Given the description of an element on the screen output the (x, y) to click on. 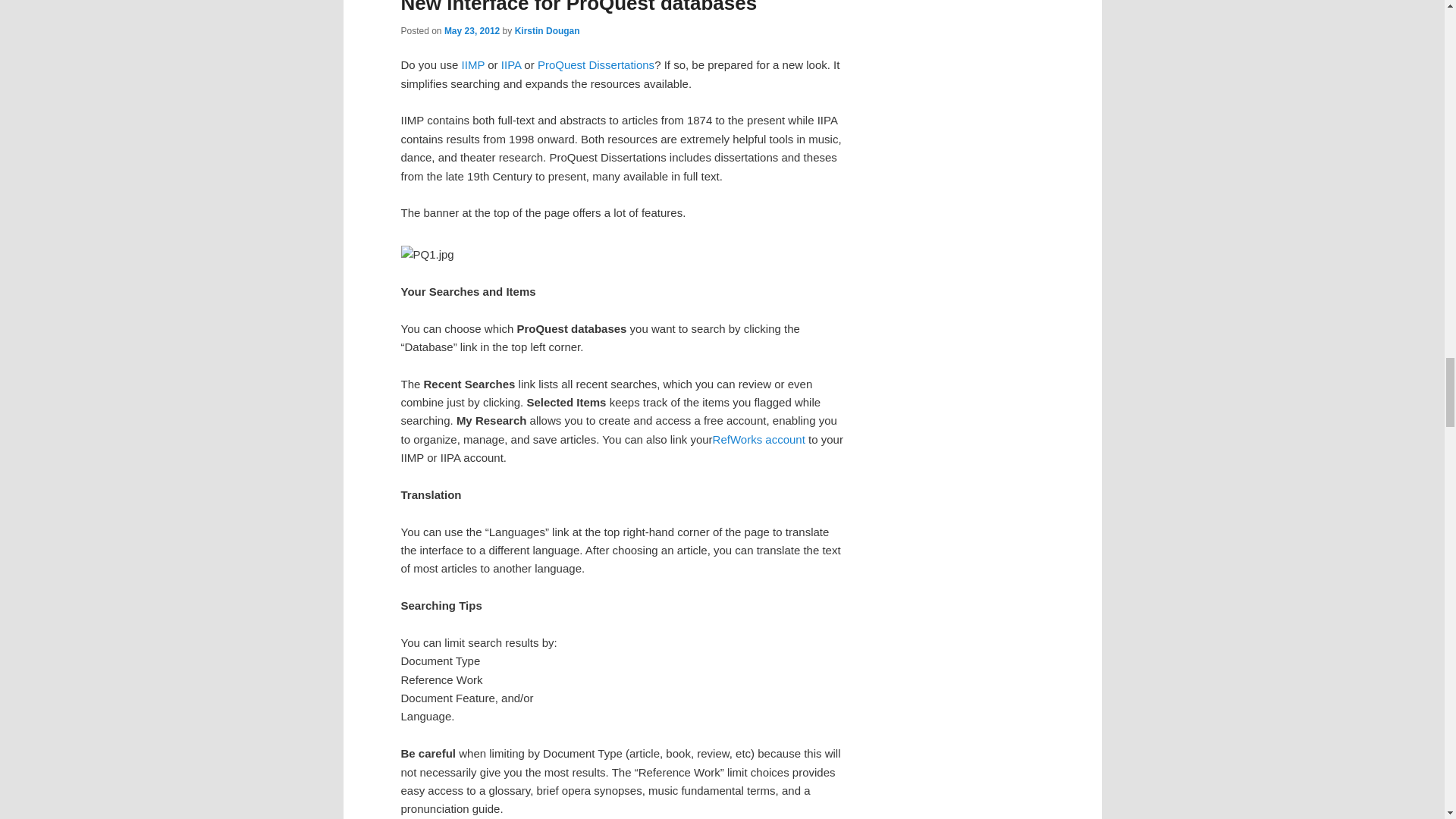
1:08 pm (471, 30)
View all posts by Kirstin Dougan (547, 30)
